Given the description of an element on the screen output the (x, y) to click on. 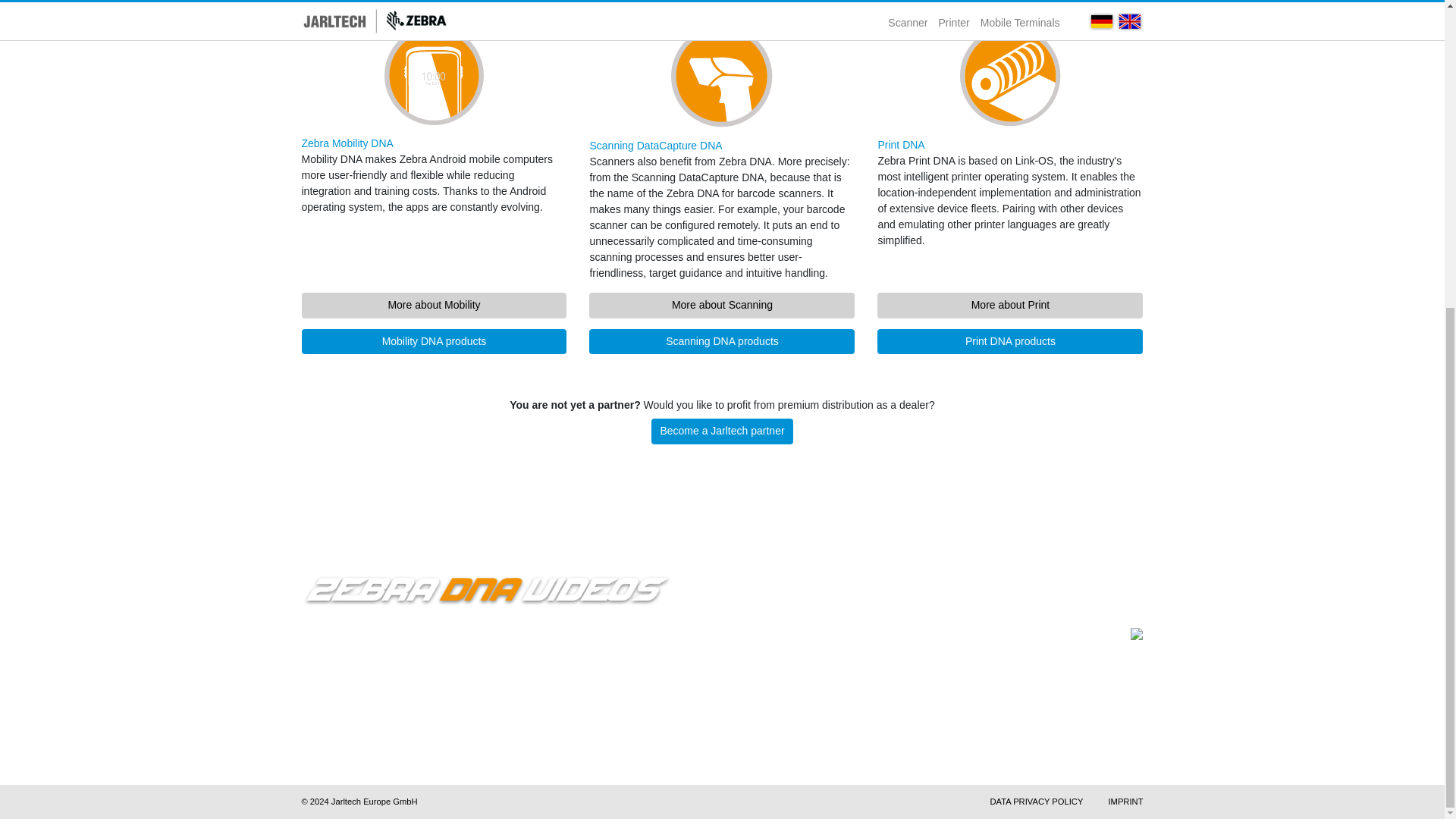
More about Print (1009, 305)
Scanning DNA products (721, 341)
Become a Jarltech partner (721, 431)
IMPRINT (1125, 800)
More about Mobility (434, 305)
Print DNA products (1009, 341)
More about Scanning (721, 305)
DATA PRIVACY POLICY (1036, 800)
Mobility DNA products (434, 341)
